Given the description of an element on the screen output the (x, y) to click on. 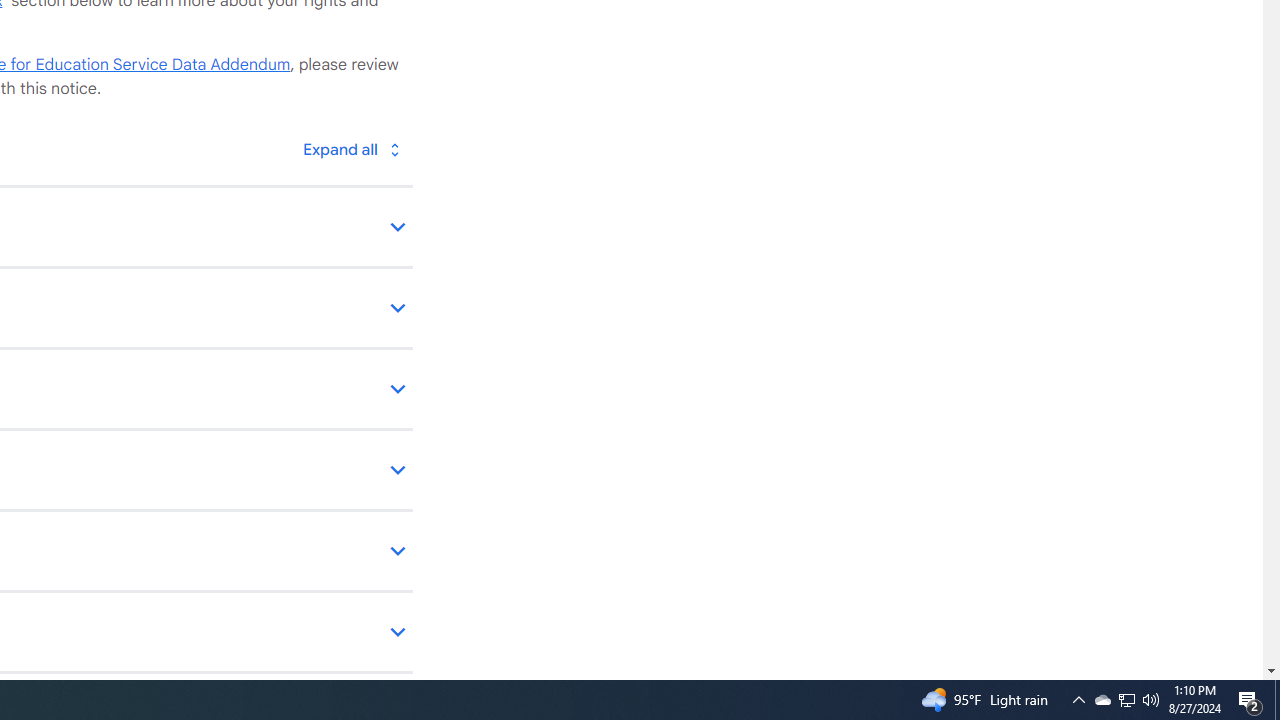
Toggle all (351, 148)
